Given the description of an element on the screen output the (x, y) to click on. 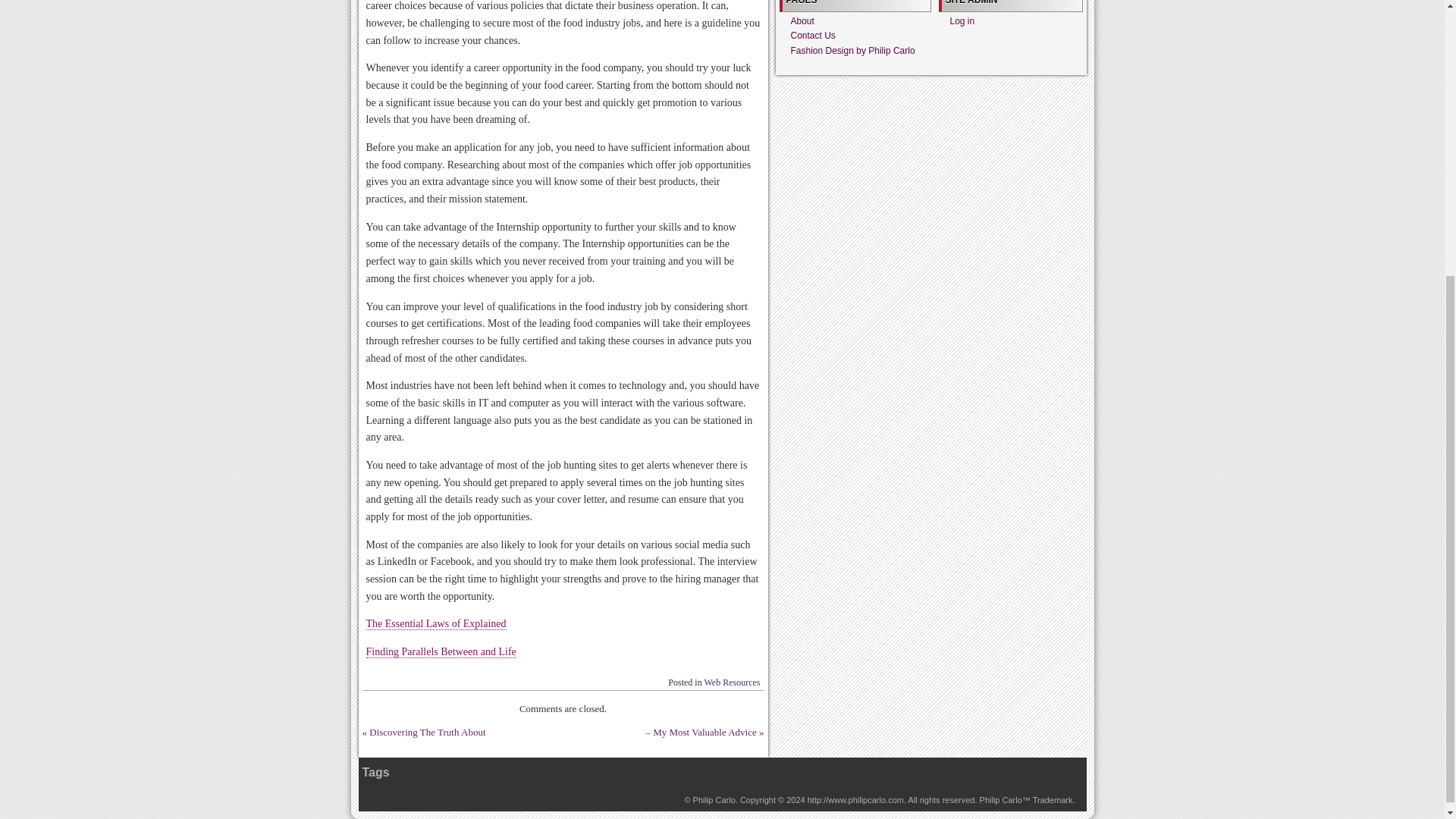
The Essential Laws of Explained (435, 623)
Fashion Design by Philip Carlo (714, 799)
Discovering The Truth About (426, 731)
Web Resources (731, 682)
About (801, 20)
Finding Parallels Between and Life (440, 652)
